Given the description of an element on the screen output the (x, y) to click on. 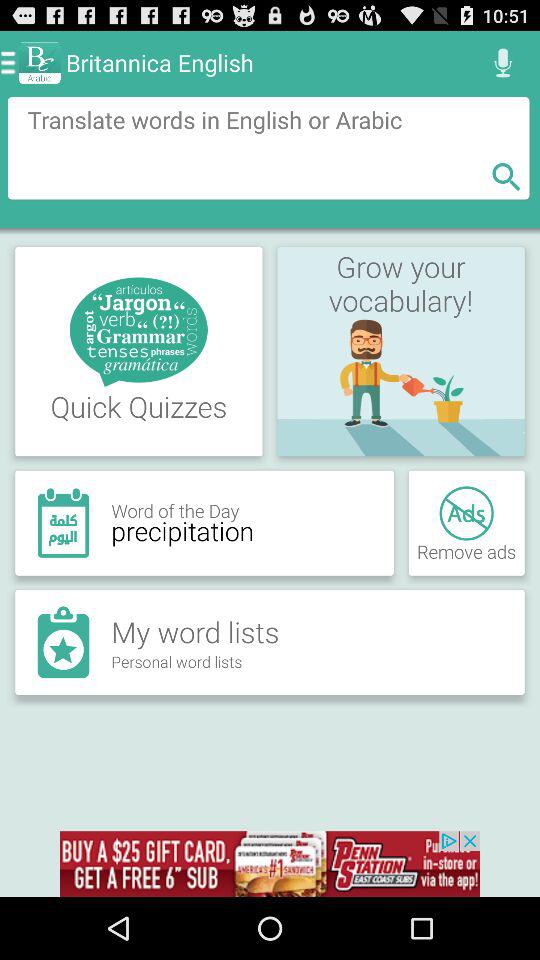
advertisement (270, 864)
